Given the description of an element on the screen output the (x, y) to click on. 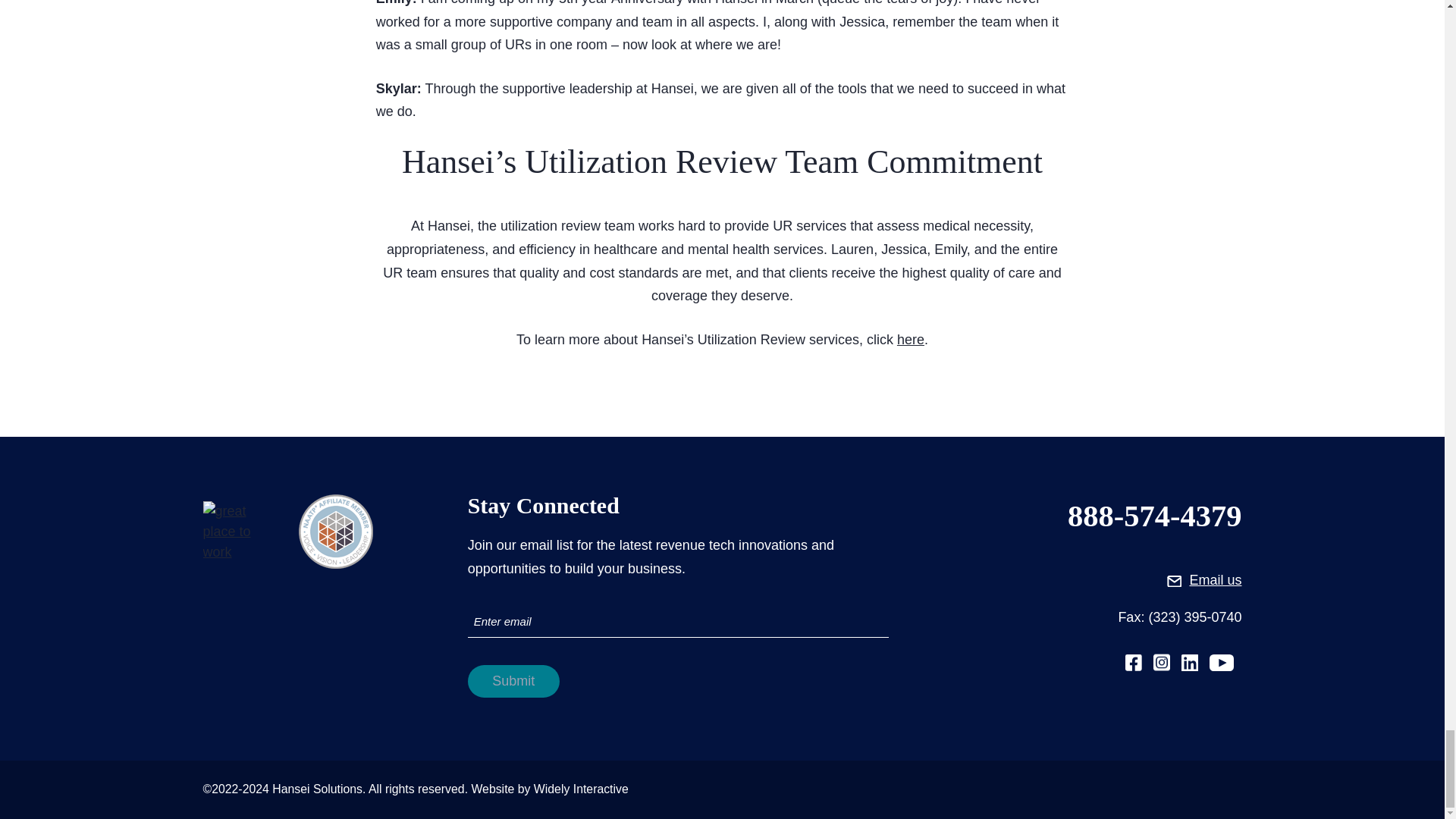
YouTube (1221, 661)
here (910, 339)
